Given the description of an element on the screen output the (x, y) to click on. 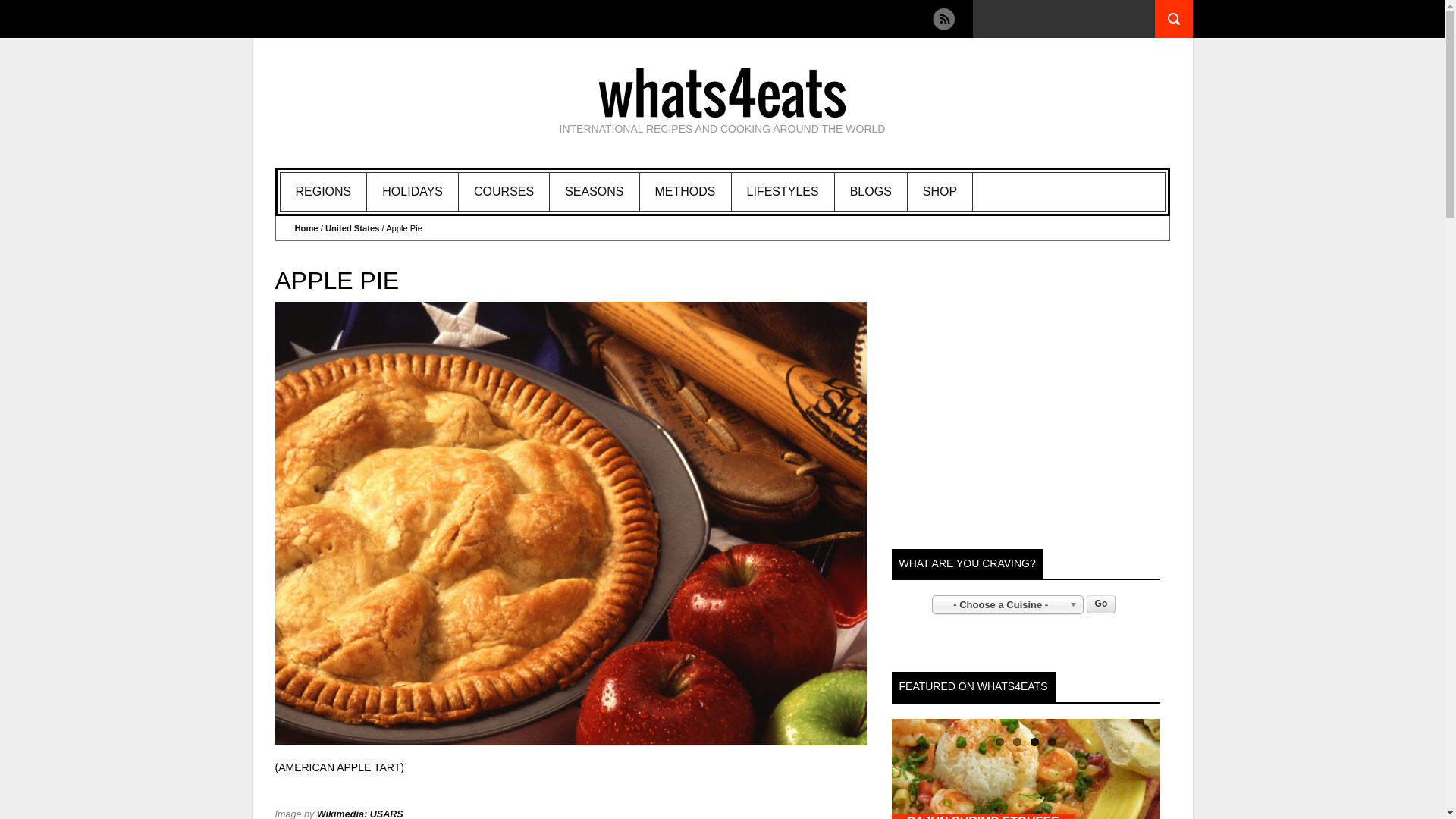
REGIONS (324, 191)
Recipes by Course (504, 191)
Blog Homepage (870, 191)
LIFESTYLES (783, 191)
BLOGS (870, 191)
United States (352, 227)
Basic Cooking Methods and International Recipes (686, 191)
Learn how to cook and eat in harmony with the seasons (594, 191)
Go (1101, 604)
Enter the terms you wish to search for. (1063, 18)
Search (1173, 18)
Image by Wikimedia: USARS (360, 814)
International Holiday Recipes and Traditions (412, 191)
